Given the description of an element on the screen output the (x, y) to click on. 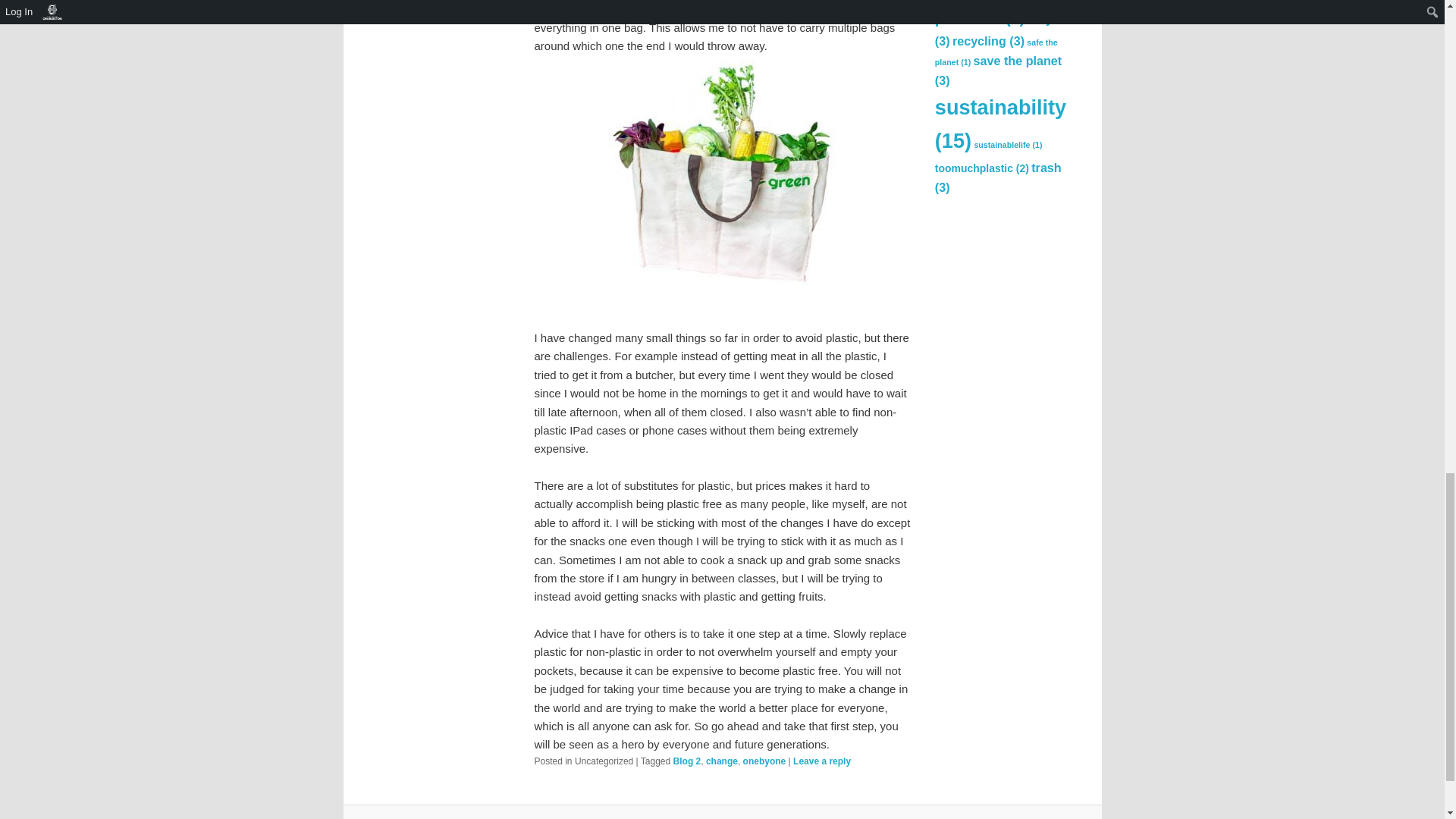
Blog 2 (686, 760)
onebyone (764, 760)
change (722, 760)
Leave a reply (821, 760)
